Given the description of an element on the screen output the (x, y) to click on. 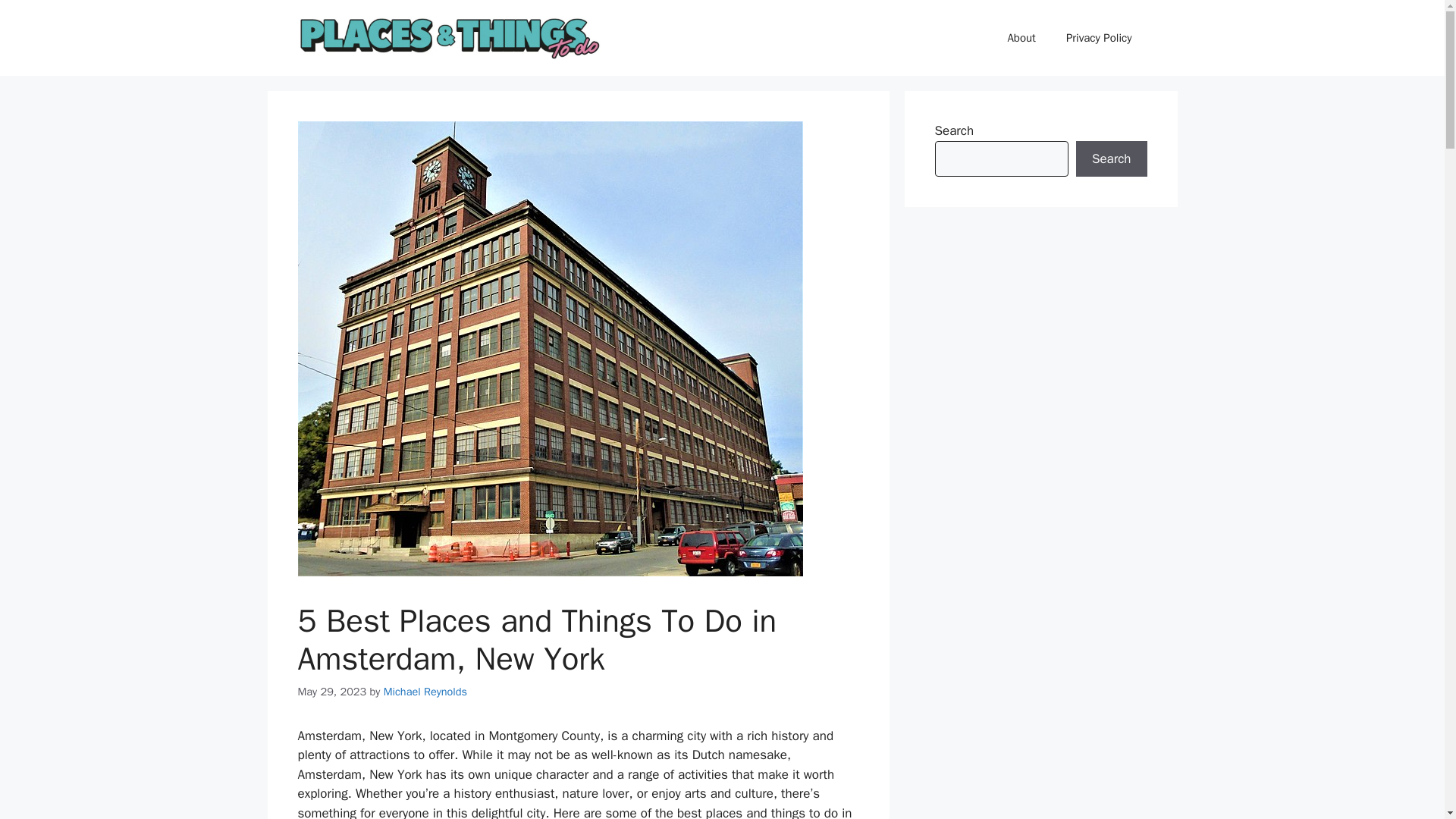
Privacy Policy (1099, 37)
Search (1111, 158)
View all posts by Michael Reynolds (425, 691)
About (1020, 37)
Michael Reynolds (425, 691)
